Given the description of an element on the screen output the (x, y) to click on. 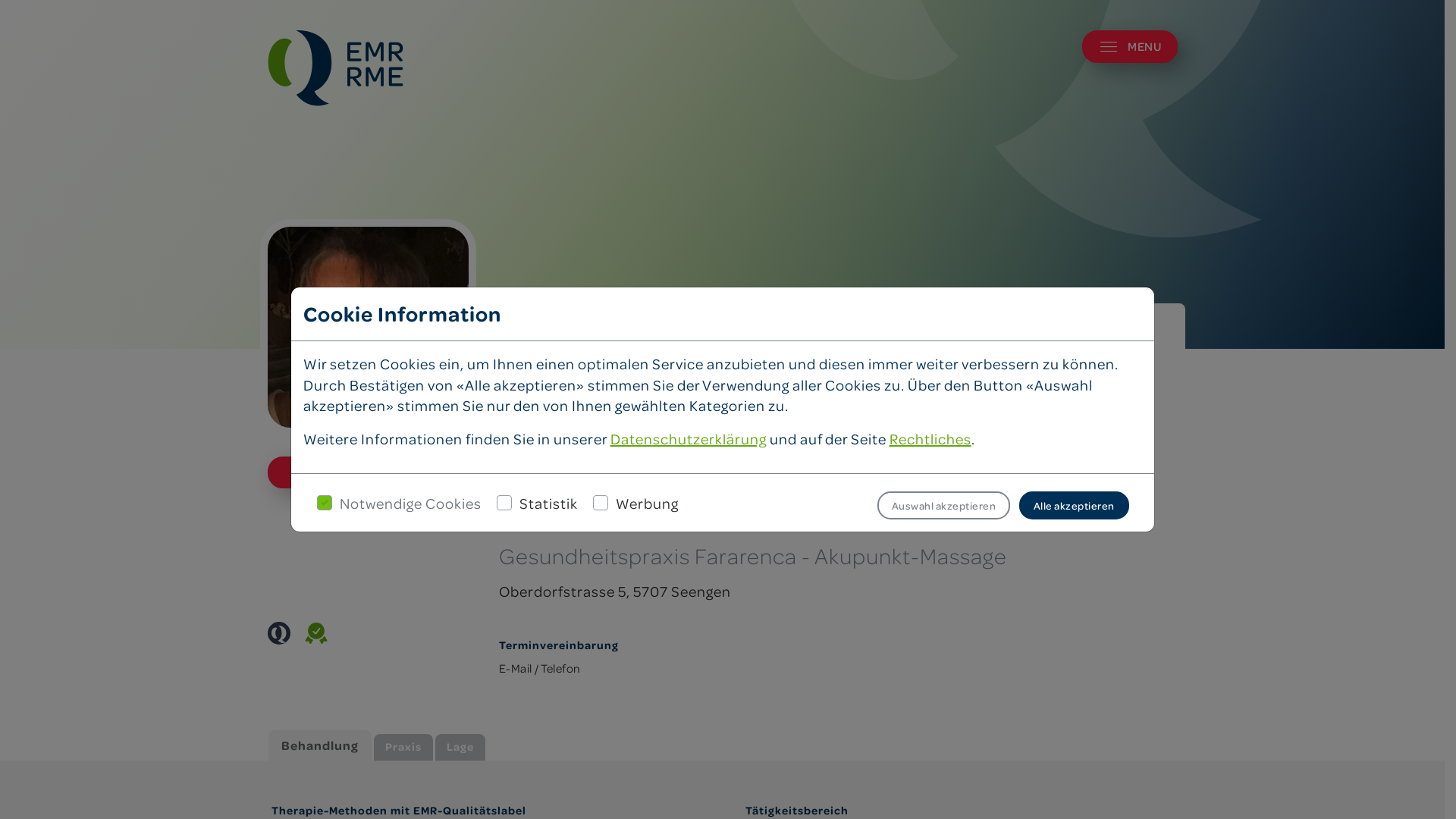
Alle akzeptieren Element type: text (1074, 505)
EMR zertifiziert Element type: hover (277, 632)
Auswahl akzeptieren Element type: text (943, 505)
E-Mail senden Element type: text (366, 472)
MENU Element type: text (1129, 46)
Lage Element type: text (460, 747)
Behandlung Element type: text (319, 745)
Rechtliches Element type: text (929, 438)
Praxis Element type: text (403, 747)
